Given the description of an element on the screen output the (x, y) to click on. 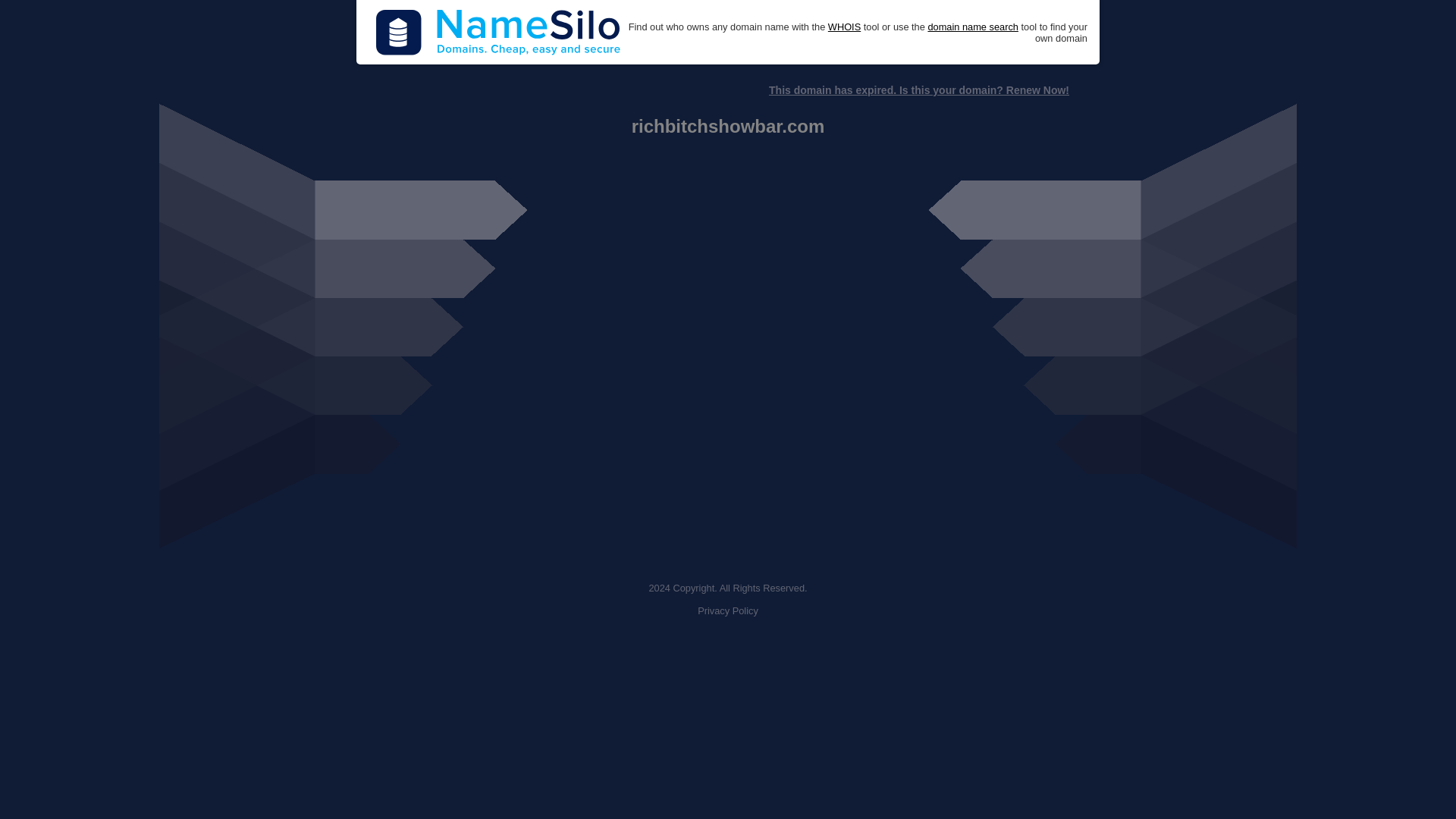
WHOIS (844, 26)
Privacy Policy (727, 610)
domain name search (972, 26)
This domain has expired. Is this your domain? Renew Now! (918, 90)
